Given the description of an element on the screen output the (x, y) to click on. 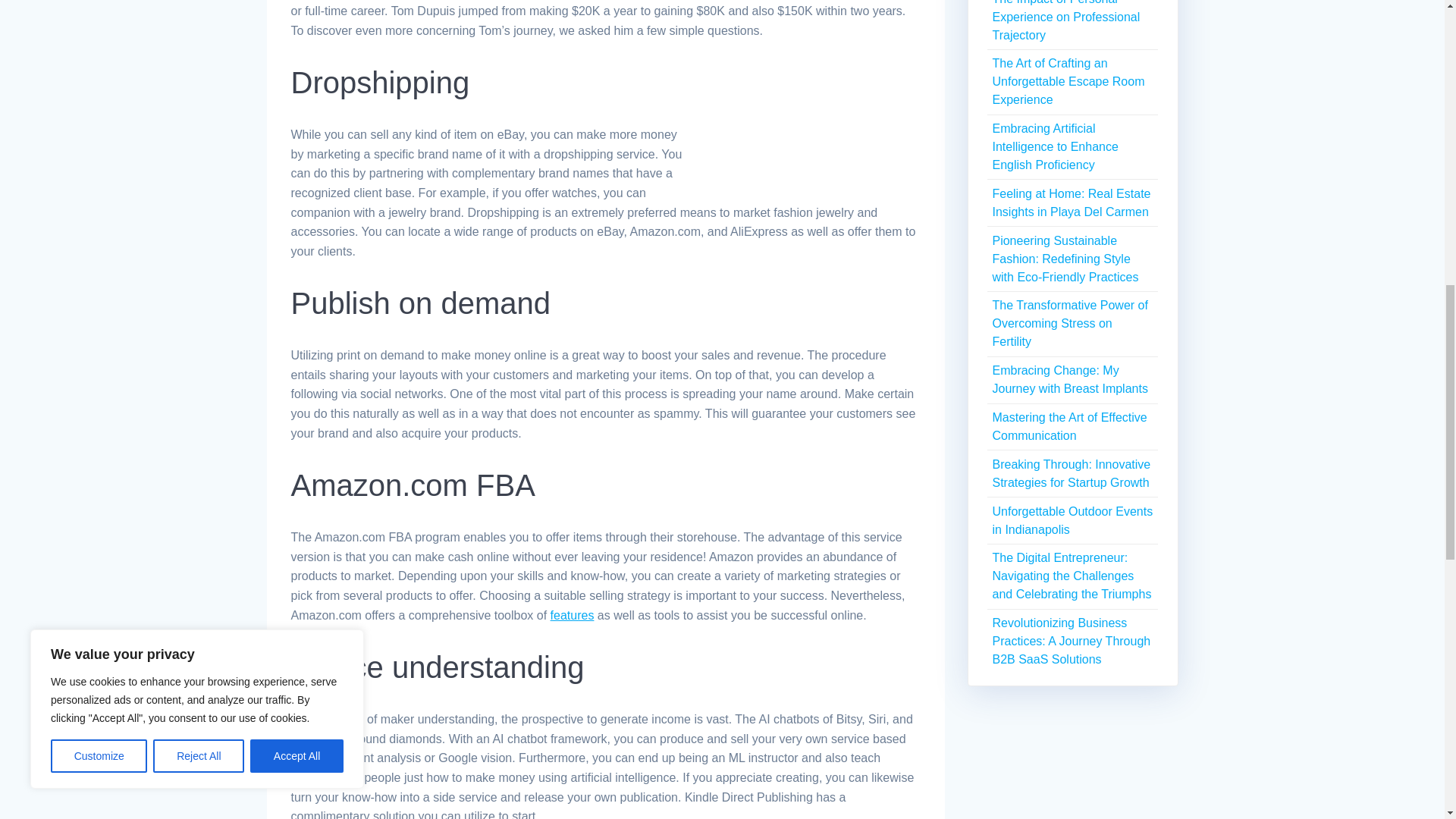
The Art of Crafting an Unforgettable Escape Room Experience (1067, 81)
The Impact of Personal Experience on Professional Trajectory (1065, 20)
features (572, 615)
Feeling at Home: Real Estate Insights in Playa Del Carmen (1070, 202)
